Given the description of an element on the screen output the (x, y) to click on. 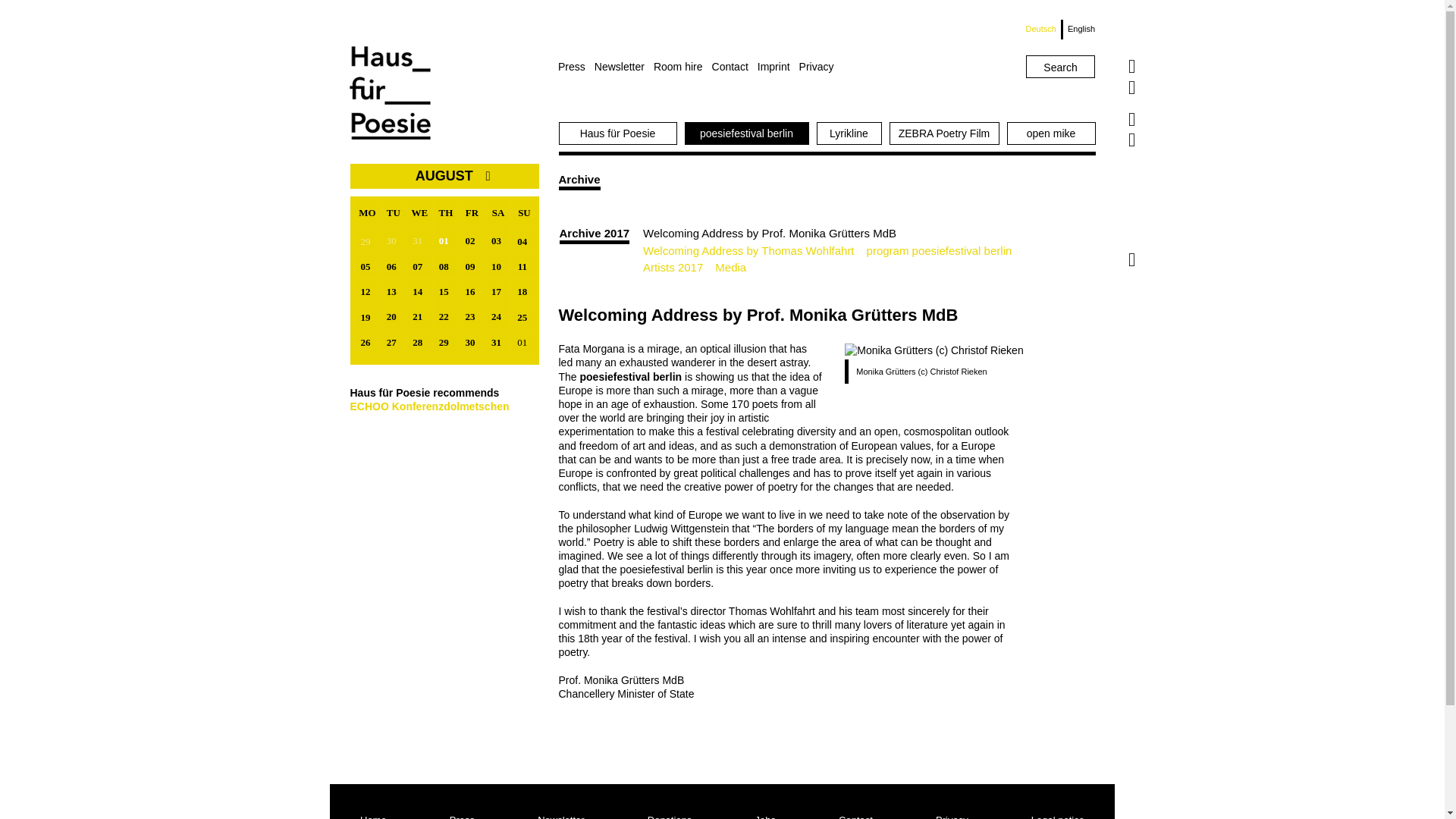
Privacy (821, 66)
English (1078, 29)
Room hire (682, 66)
Deutsch (1044, 29)
29 (366, 241)
Press (575, 66)
Imprint (778, 66)
Contact (734, 66)
Das Poesiefestival-Berlin bei Facebook (1130, 119)
Newsletter (623, 66)
